Given the description of an element on the screen output the (x, y) to click on. 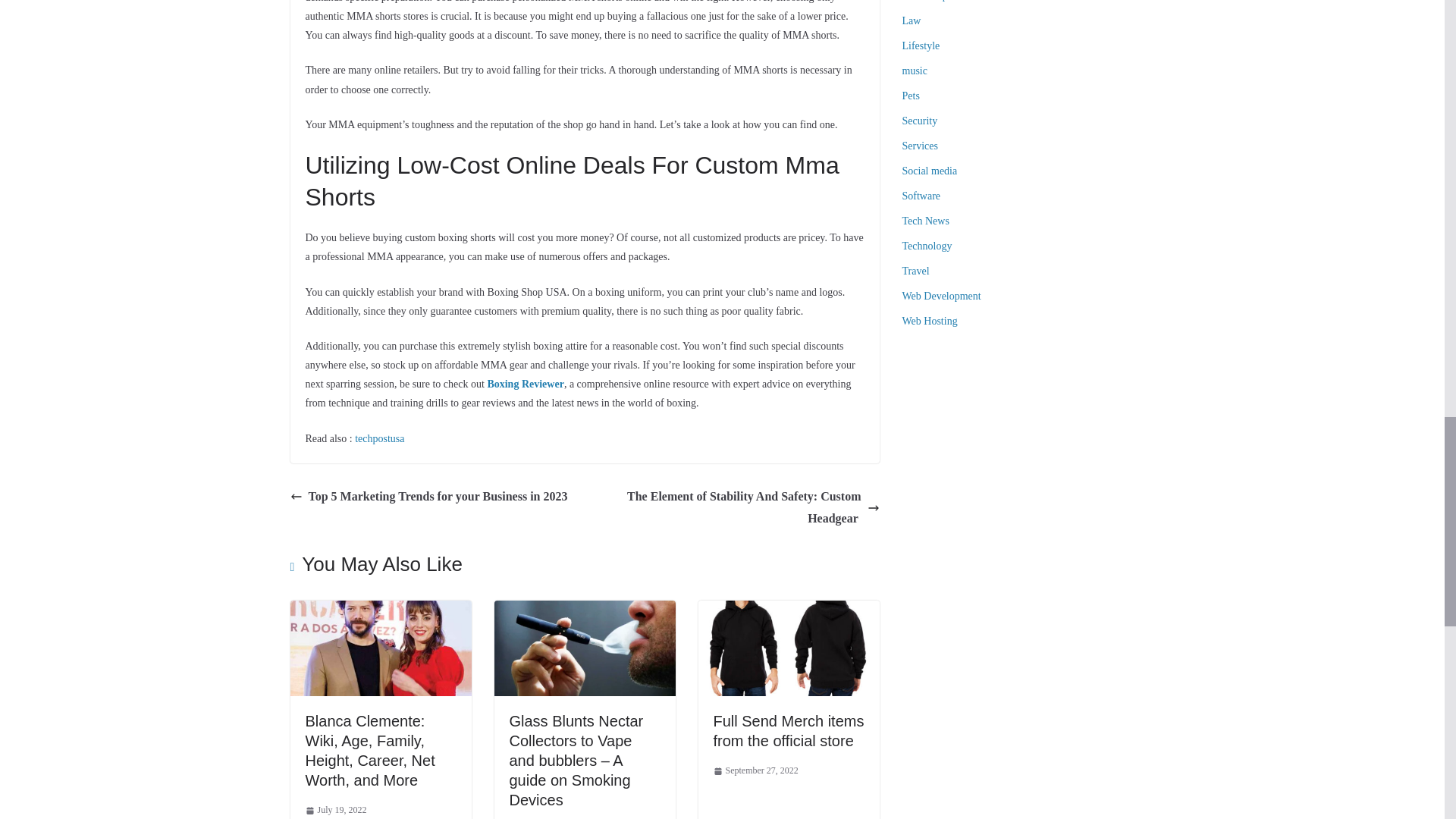
Top 5 Marketing Trends for your Business in 2023 (428, 496)
Boxing Reviewer (524, 383)
10:29 PM (335, 810)
The Element of Stability And Safety: Custom Headgear  (735, 507)
July 19, 2022 (335, 810)
techpostusa (379, 438)
